Given the description of an element on the screen output the (x, y) to click on. 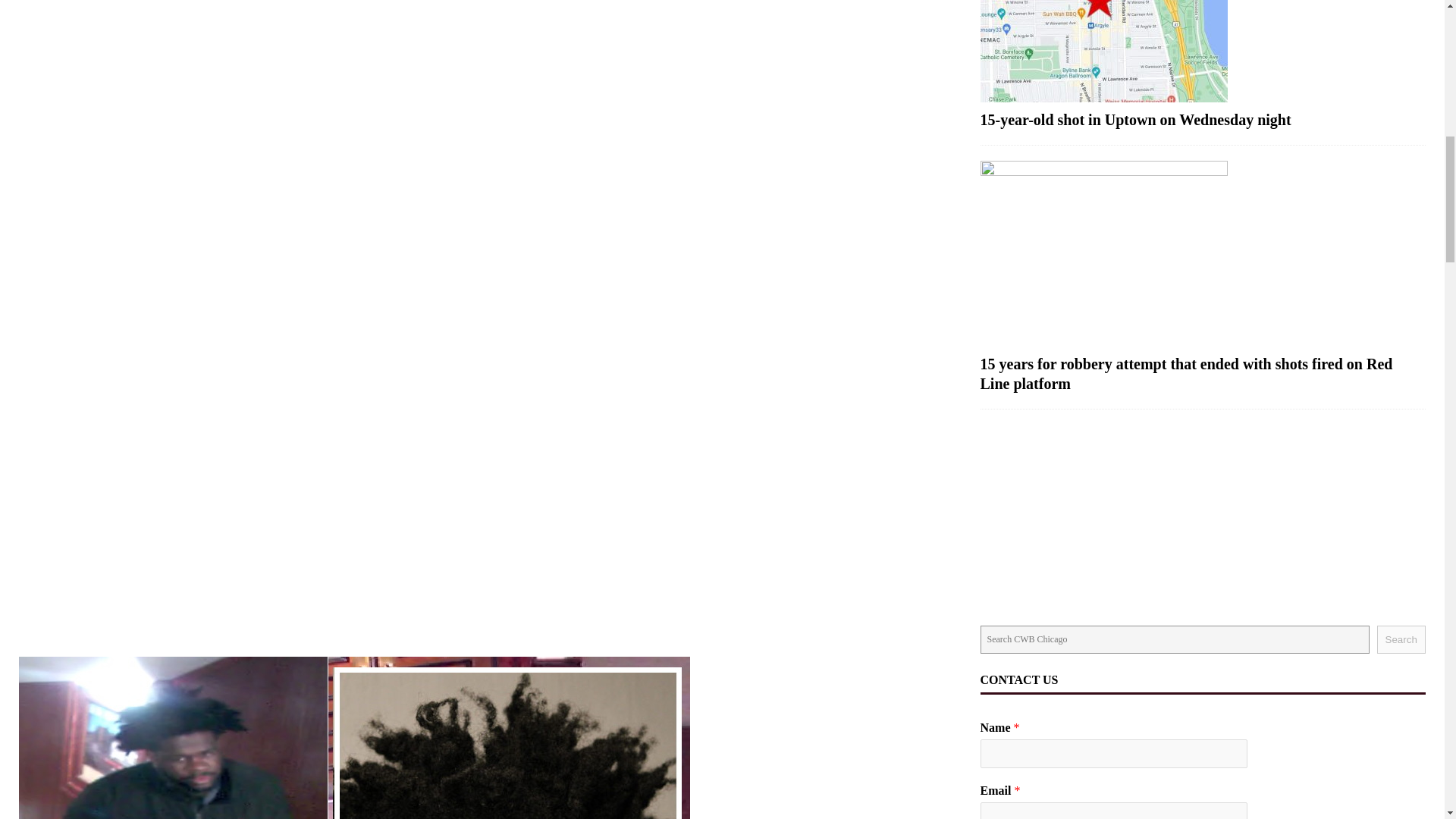
15-year-old shot in Uptown on Wednesday night (1135, 119)
Search (1401, 639)
15-year-old shot in Uptown on Wednesday night (1202, 51)
15-year-old shot in Uptown on Wednesday night (1135, 119)
